Given the description of an element on the screen output the (x, y) to click on. 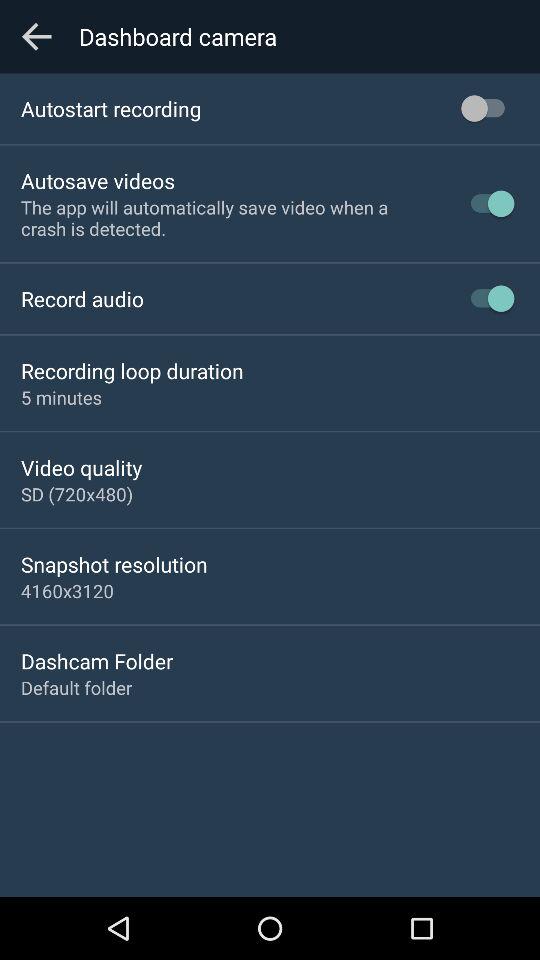
jump until the snapshot resolution item (114, 564)
